Given the description of an element on the screen output the (x, y) to click on. 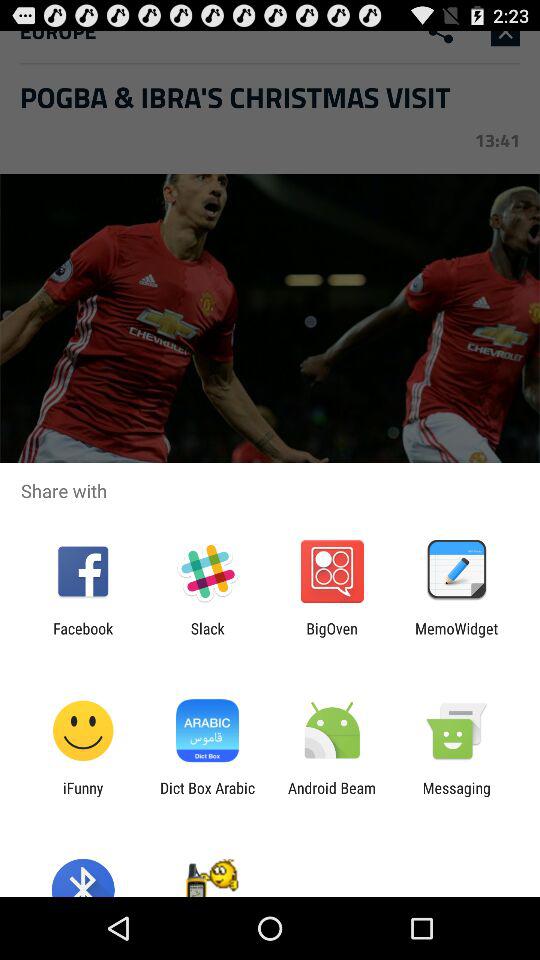
select the item to the right of the slack app (331, 637)
